Given the description of an element on the screen output the (x, y) to click on. 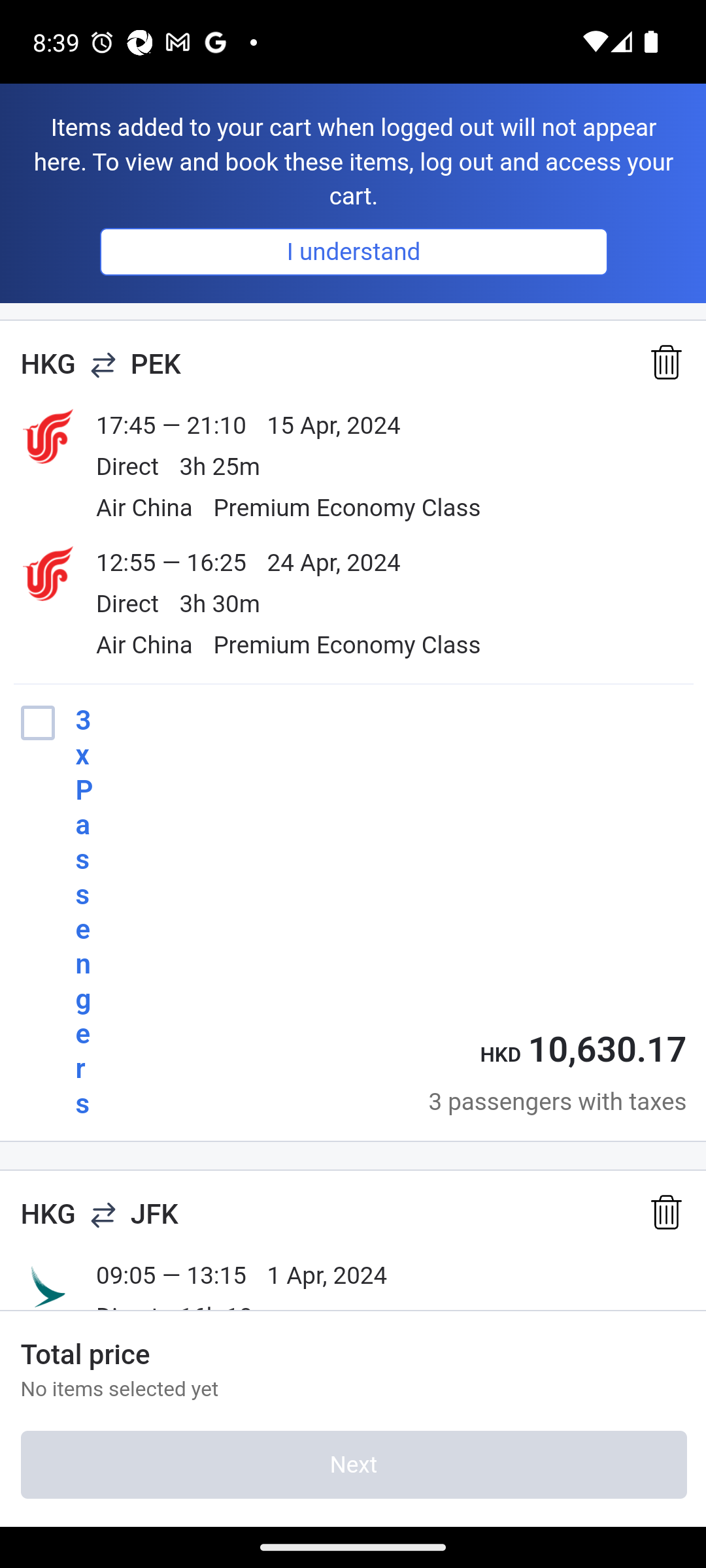
I understand (352, 250)
Remove this item from your cart Air China (666, 364)
item checkbox (36, 722)
Remove this item from your cart Cathay Pacific (666, 1214)
Next (352, 1465)
